Given the description of an element on the screen output the (x, y) to click on. 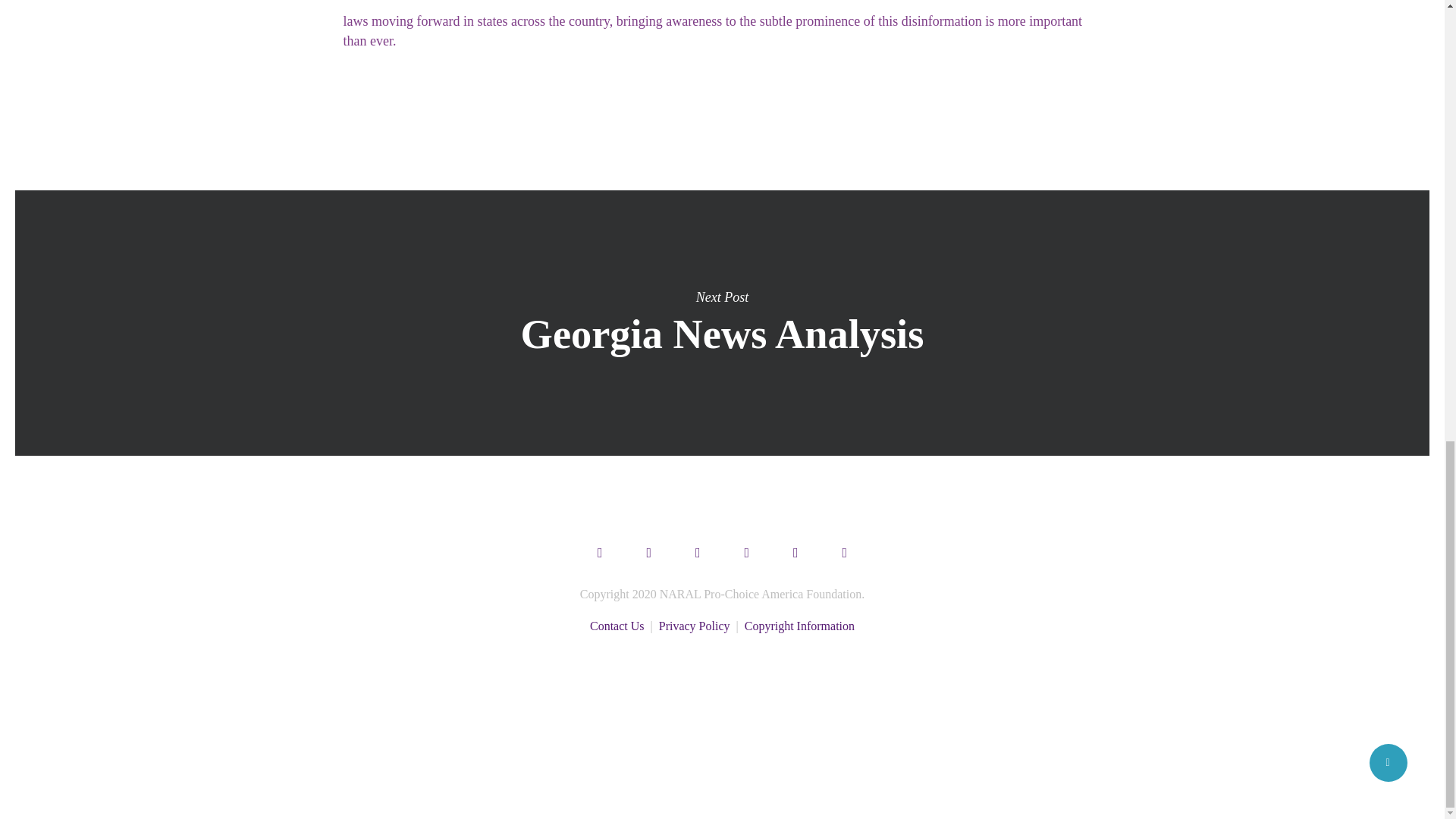
Privacy Policy (694, 625)
Copyright Information (799, 625)
Contact Us (617, 625)
